Given the description of an element on the screen output the (x, y) to click on. 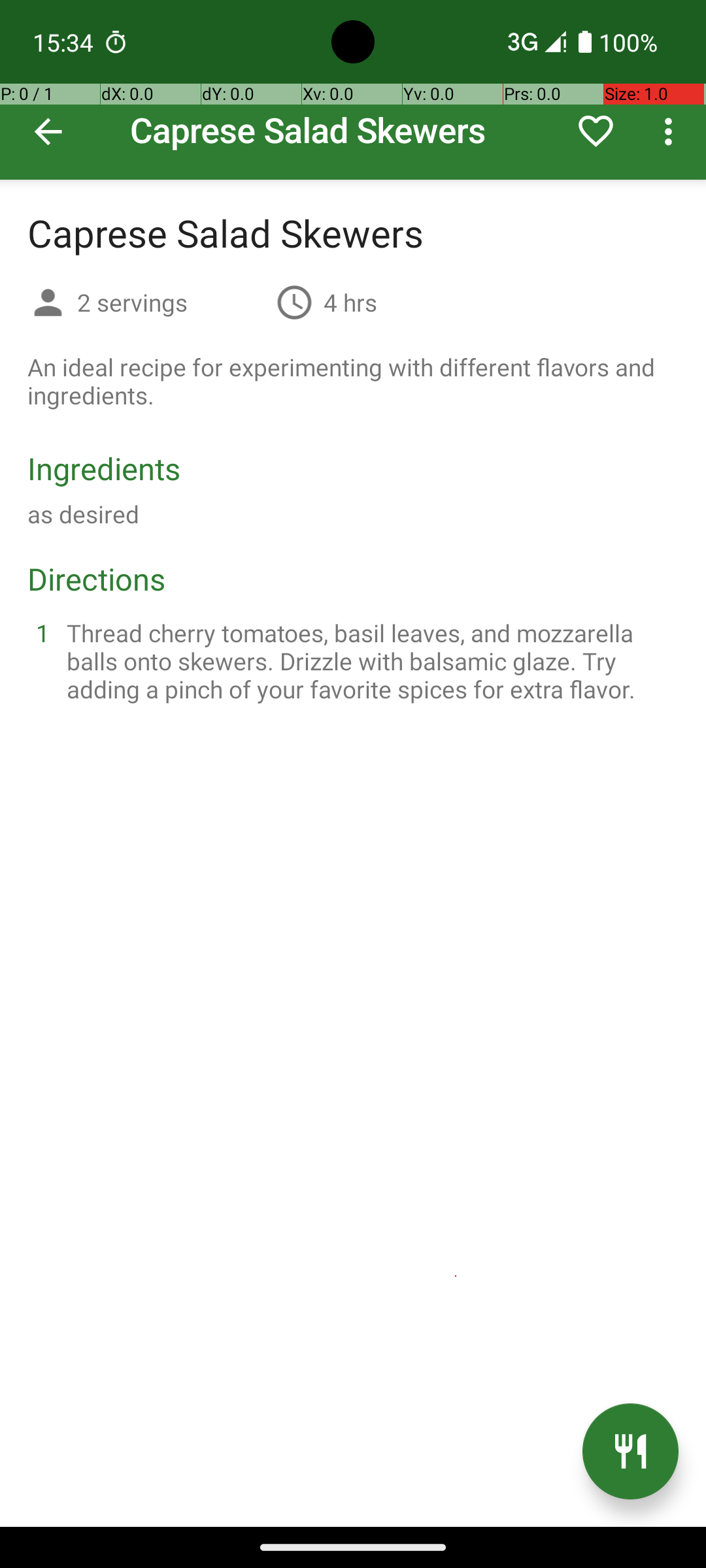
4 hrs Element type: android.widget.TextView (350, 301)
as desired Element type: android.widget.TextView (83, 513)
Thread cherry tomatoes, basil leaves, and mozzarella balls onto skewers. Drizzle with balsamic glaze. Try adding a pinch of your favorite spices for extra flavor. Element type: android.widget.TextView (368, 660)
